Given the description of an element on the screen output the (x, y) to click on. 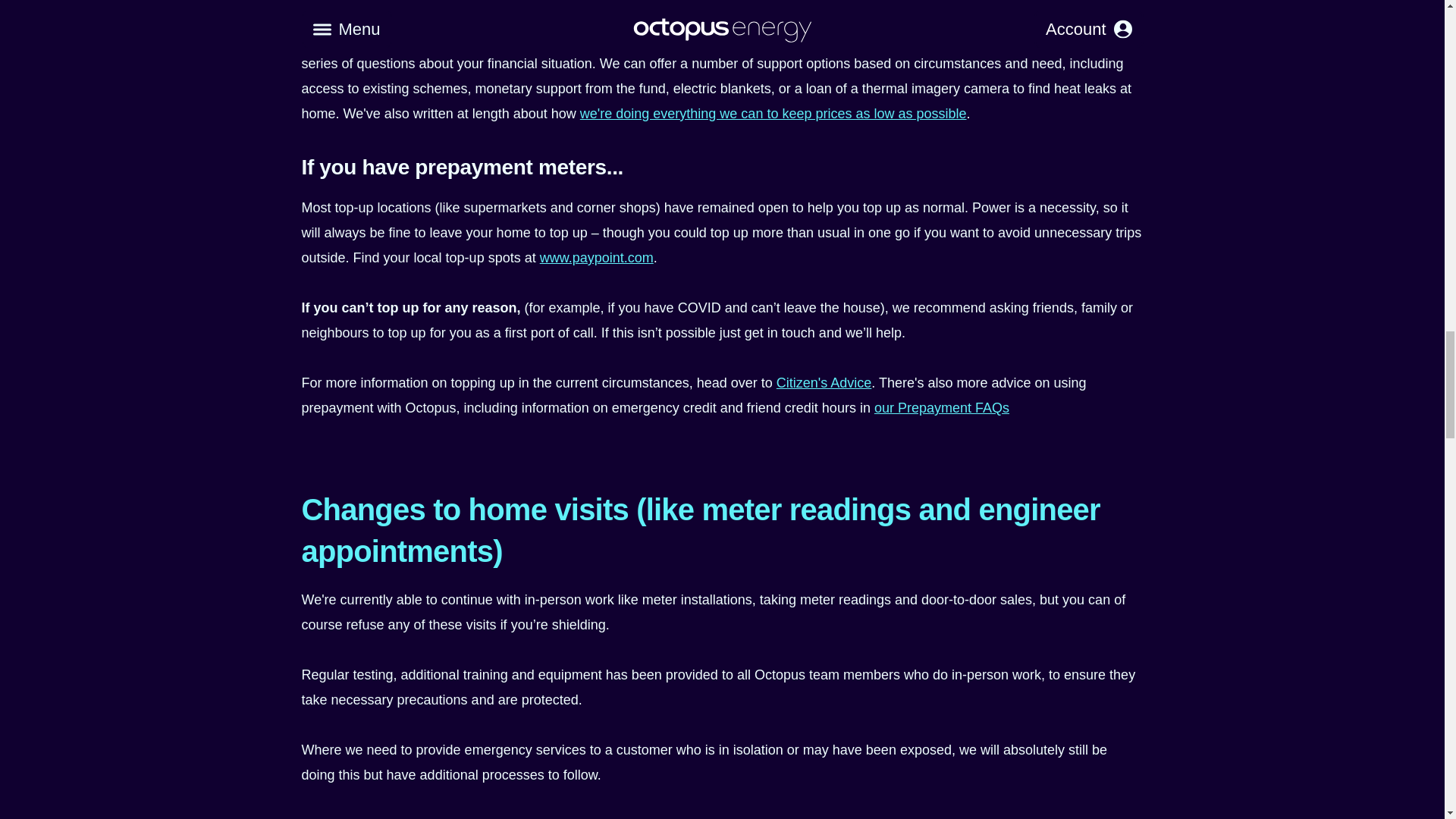
our Prepayment FAQs (942, 407)
Citizen's Advice (824, 382)
www.paypoint.com (596, 257)
